Given the description of an element on the screen output the (x, y) to click on. 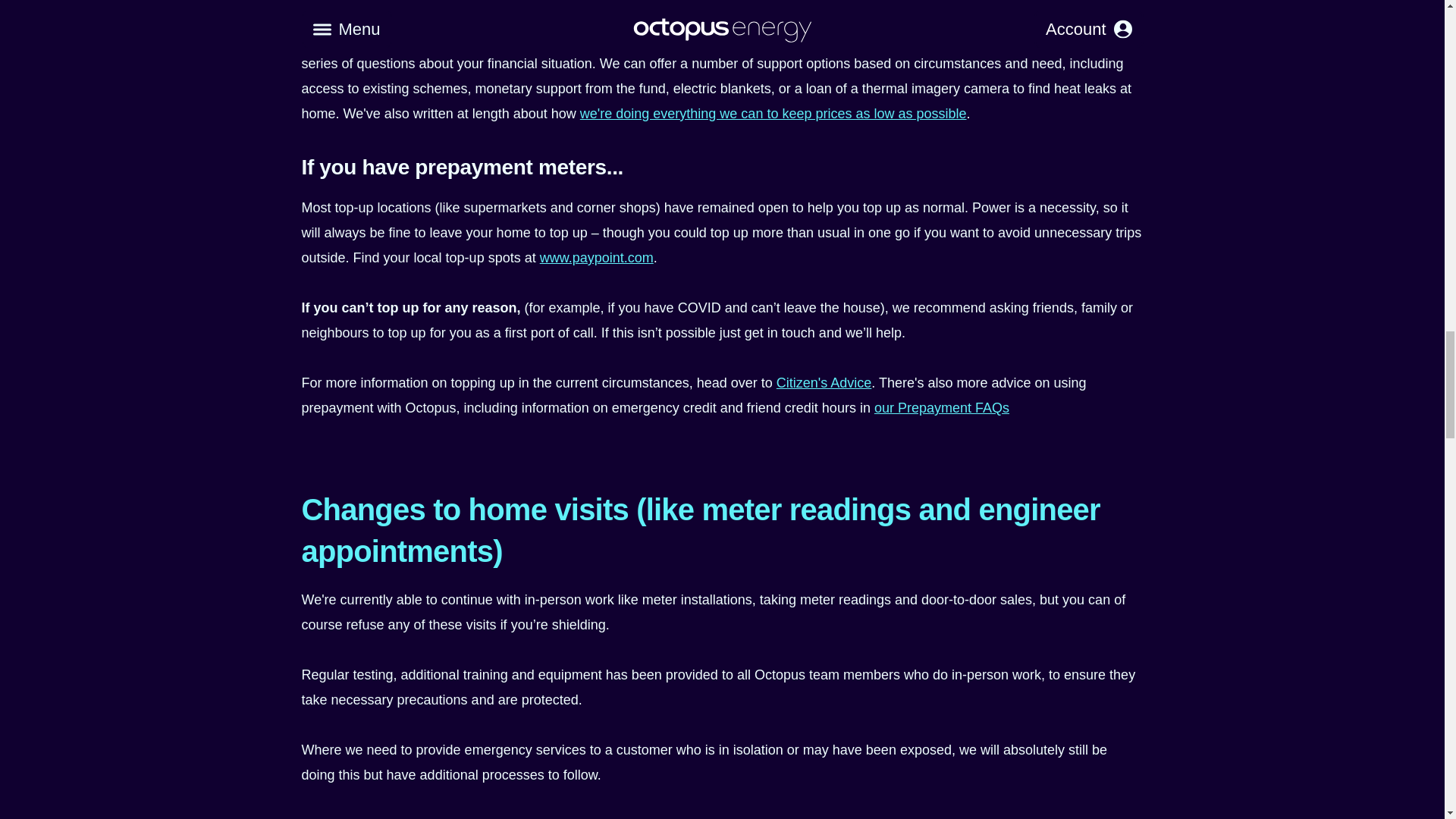
our Prepayment FAQs (942, 407)
Citizen's Advice (824, 382)
www.paypoint.com (596, 257)
